Given the description of an element on the screen output the (x, y) to click on. 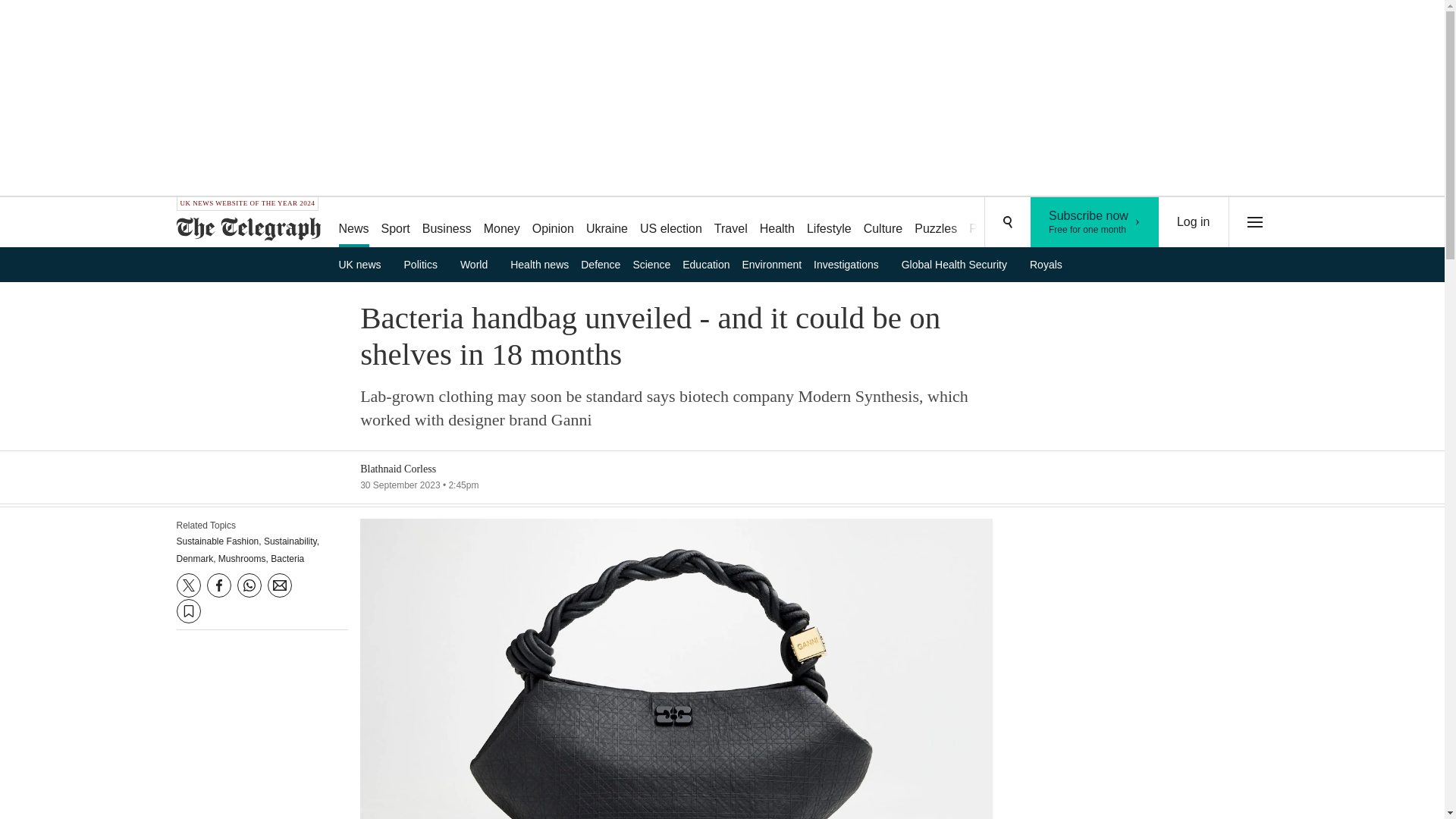
Lifestyle (828, 223)
Business (1094, 222)
Politics (446, 223)
Money (425, 264)
Puzzles (501, 223)
Opinion (935, 223)
Ukraine (552, 223)
World (606, 223)
UK news (478, 264)
